Given the description of an element on the screen output the (x, y) to click on. 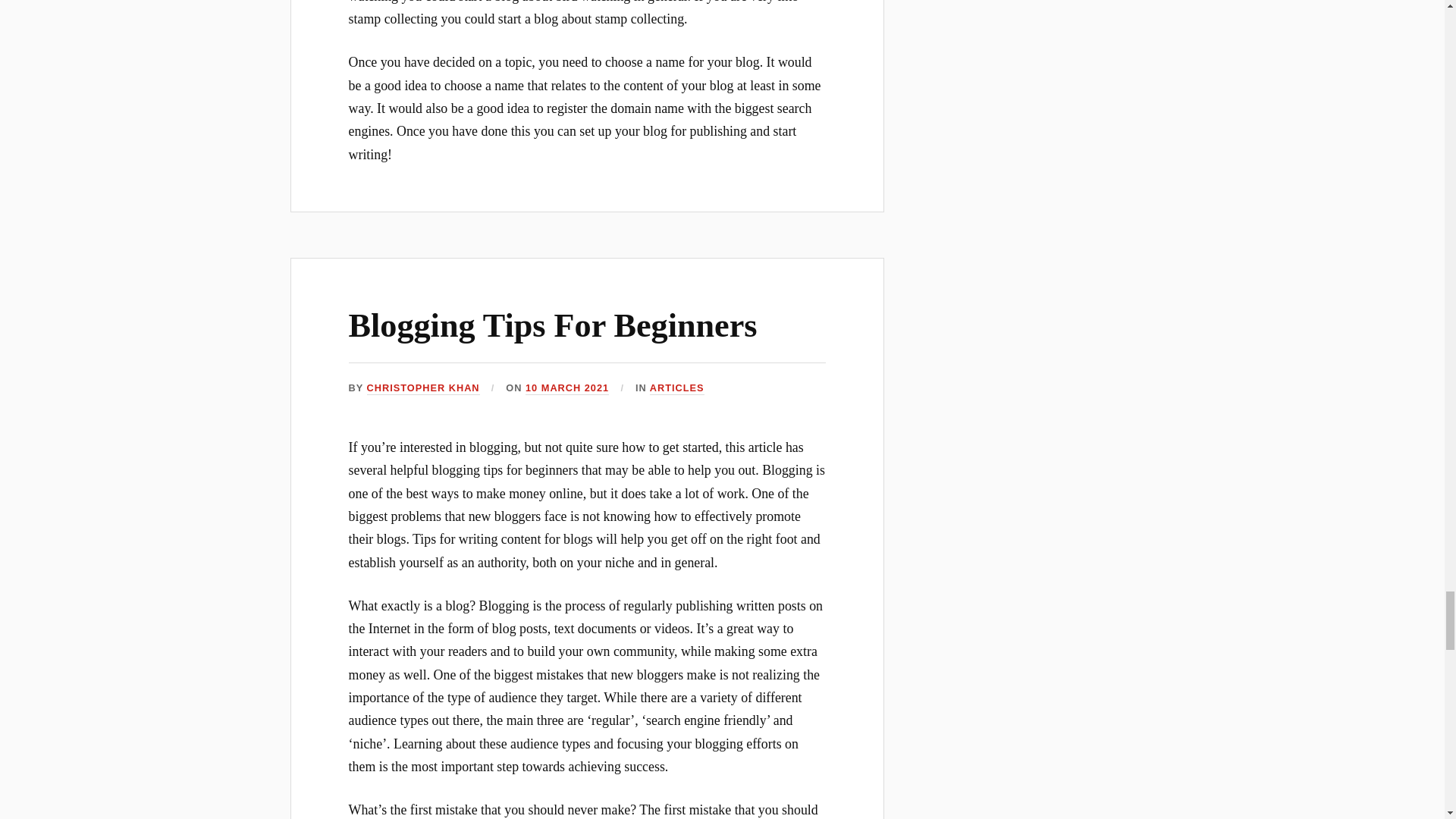
Posts by Christopher Khan (423, 388)
ARTICLES (676, 388)
CHRISTOPHER KHAN (423, 388)
Blogging Tips For Beginners (553, 325)
10 MARCH 2021 (566, 388)
